Given the description of an element on the screen output the (x, y) to click on. 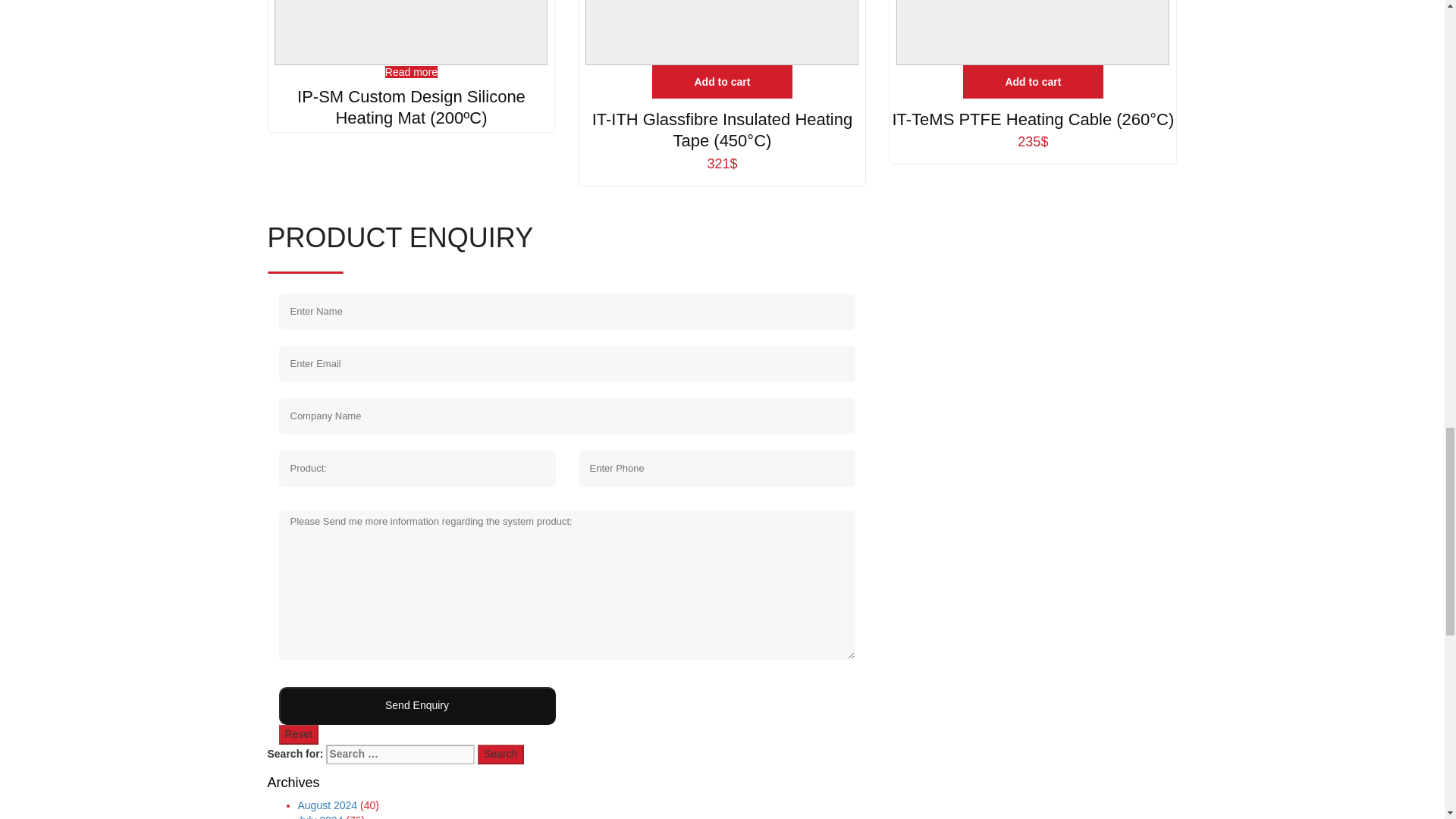
Add to cart (1032, 81)
Read more (411, 71)
Search (499, 754)
Add to cart (722, 81)
Send Enquiry (417, 705)
Search (499, 754)
Reset (298, 734)
Search (499, 754)
July 2024 (319, 816)
Send Enquiry (417, 705)
